Given the description of an element on the screen output the (x, y) to click on. 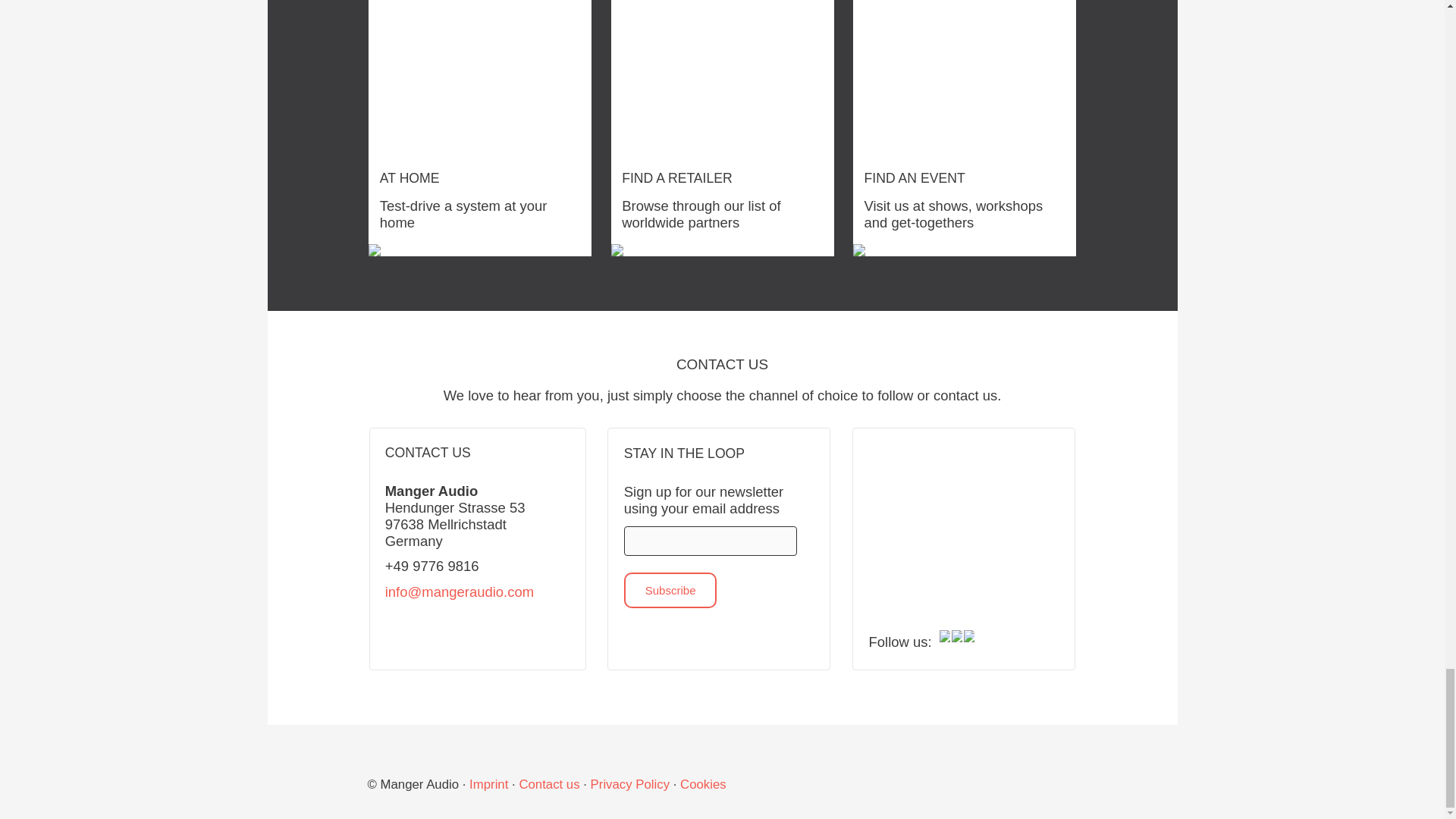
Subscribe (670, 590)
